Given the description of an element on the screen output the (x, y) to click on. 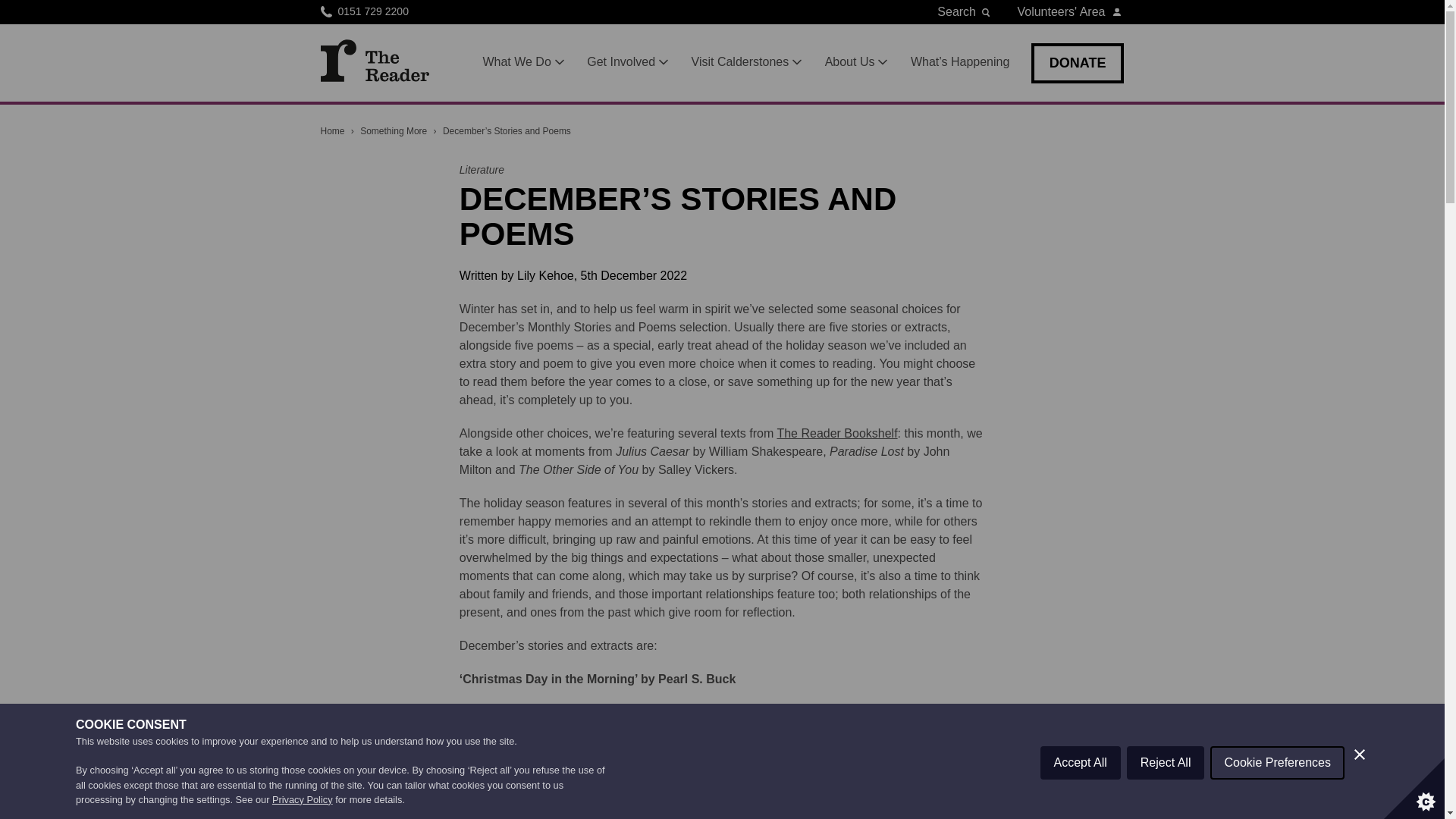
Accept All (1081, 816)
The Reader (374, 60)
Reject All (1165, 811)
What We Do (523, 61)
Get Involved (628, 61)
Visit Calderstones (747, 61)
Cookie Preferences (1276, 803)
